Given the description of an element on the screen output the (x, y) to click on. 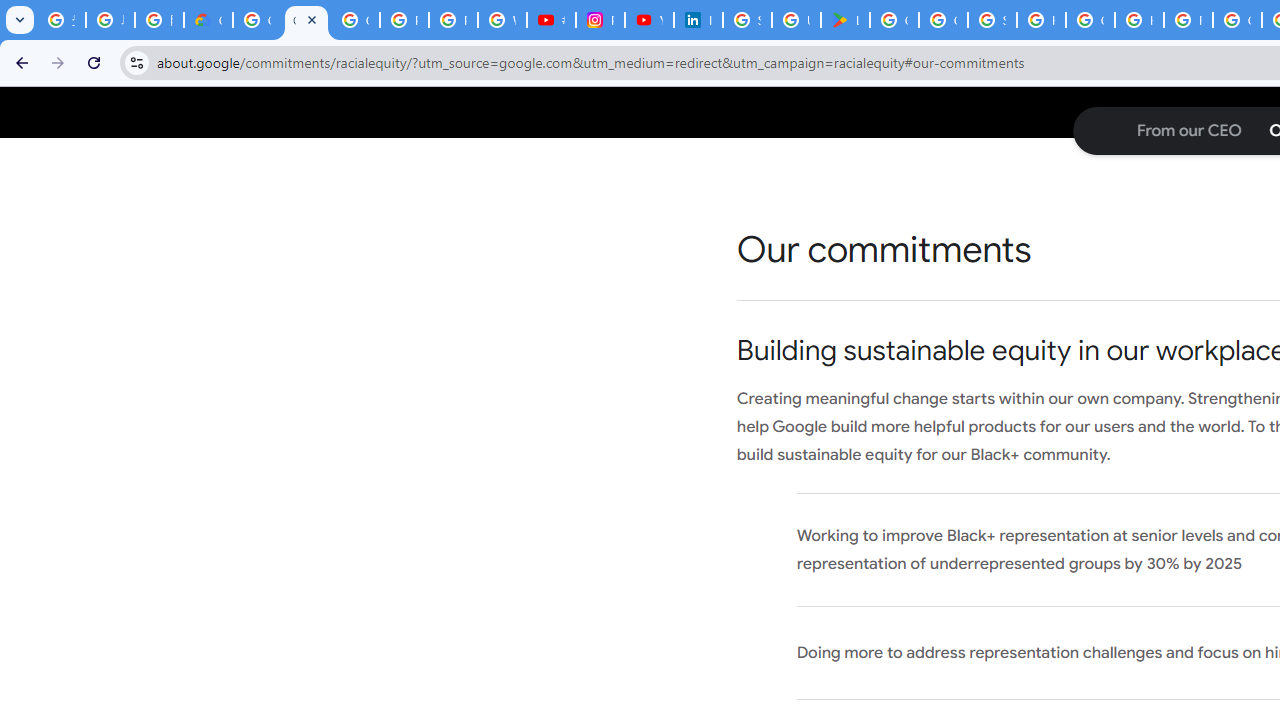
YouTube Culture & Trends - On The Rise: Handcam Videos (649, 20)
Last Shelter: Survival - Apps on Google Play (845, 20)
